Given the description of an element on the screen output the (x, y) to click on. 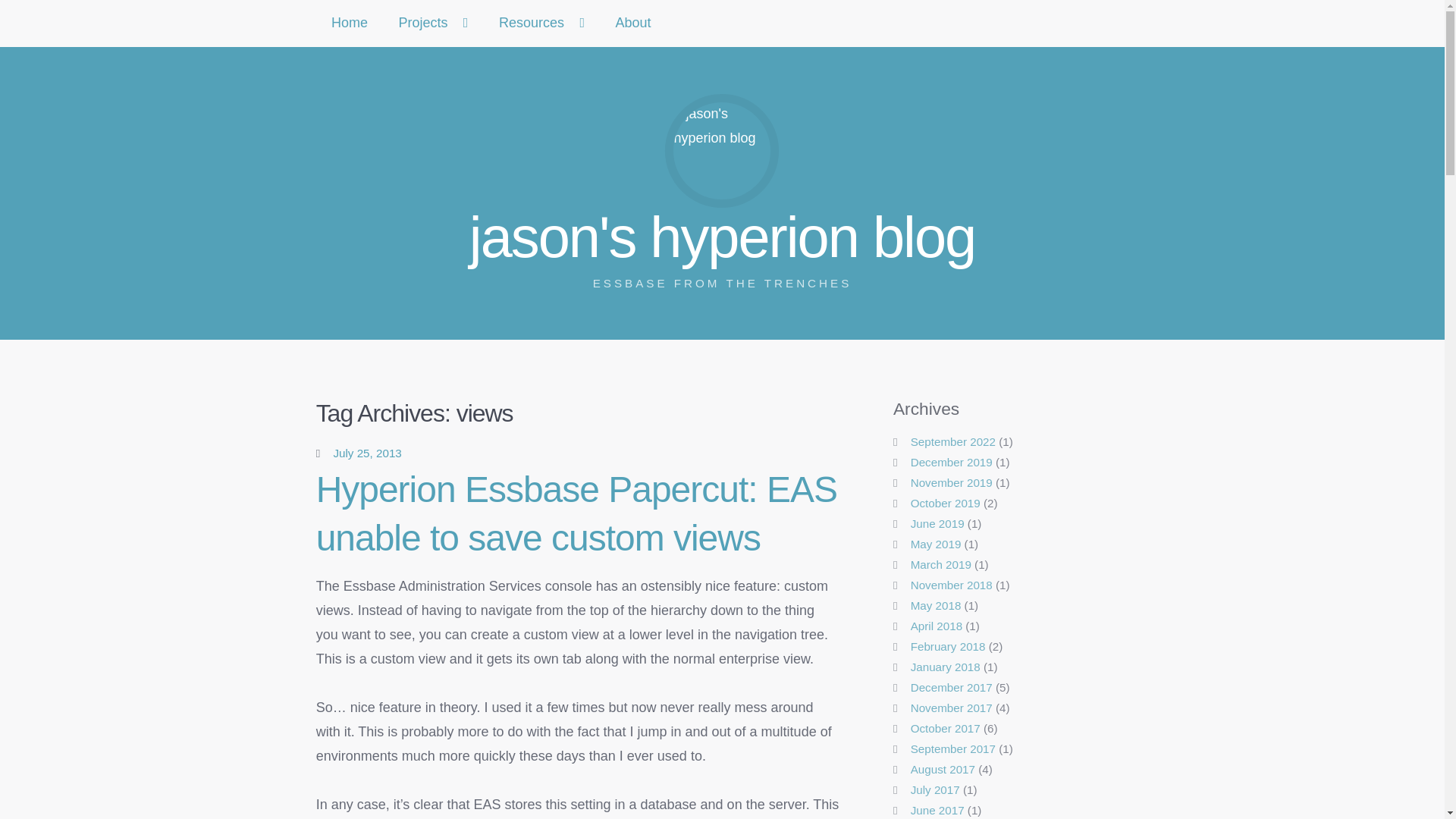
About (632, 23)
Home (349, 23)
July 25, 2013 (576, 513)
jason's hyperion blog (367, 452)
Resources (432, 23)
